Given the description of an element on the screen output the (x, y) to click on. 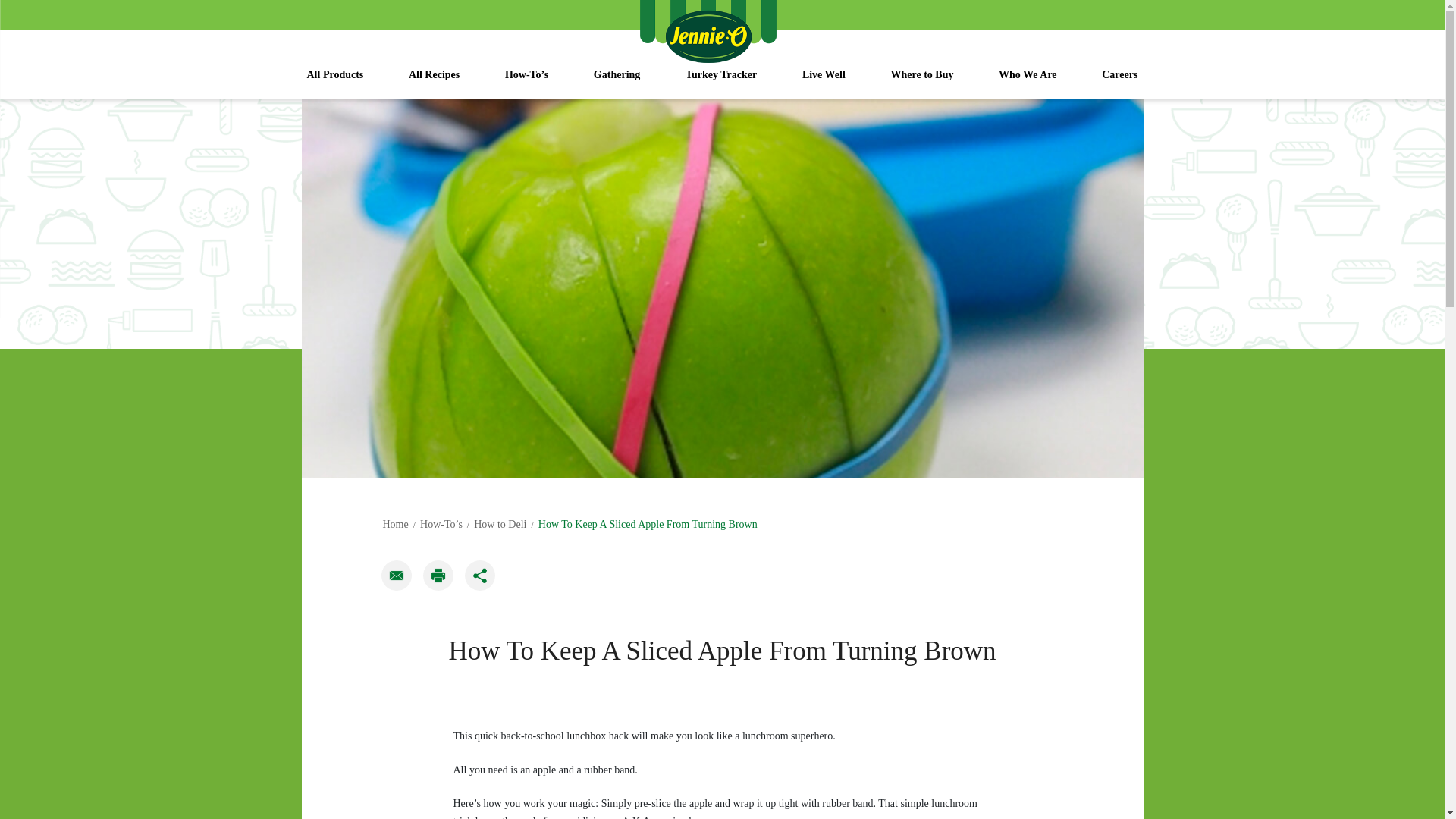
Who We Are (1027, 82)
All Recipes (433, 82)
Gathering (616, 82)
All Products (335, 82)
How to Deli (499, 523)
All Recipes (433, 82)
Careers (1119, 82)
Turkey Tracker (720, 82)
Gathering (616, 82)
Who We Are (1027, 82)
